Given the description of an element on the screen output the (x, y) to click on. 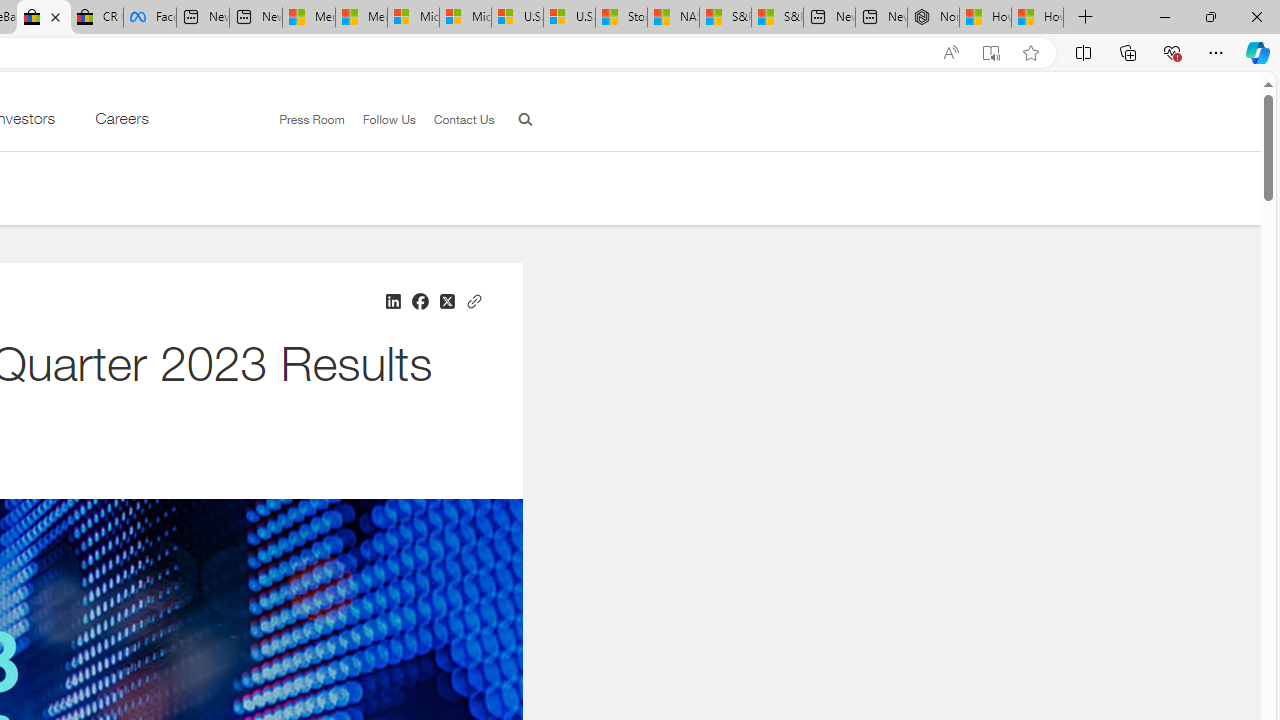
Copilot (Ctrl+Shift+.) (1258, 52)
Careers (121, 123)
Close (1256, 16)
Press Room (312, 119)
Contact Us (454, 120)
New Tab (1085, 17)
Facebook (150, 17)
S&P 500, Nasdaq end lower, weighed by Nvidia dip | Watch (776, 17)
Read aloud this page (Ctrl+Shift+U) (950, 53)
Split screen (1083, 52)
Minimize (1164, 16)
Follow Us (380, 120)
Share on X (Twitter) (446, 301)
Settings and more (Alt+F) (1215, 52)
